Given the description of an element on the screen output the (x, y) to click on. 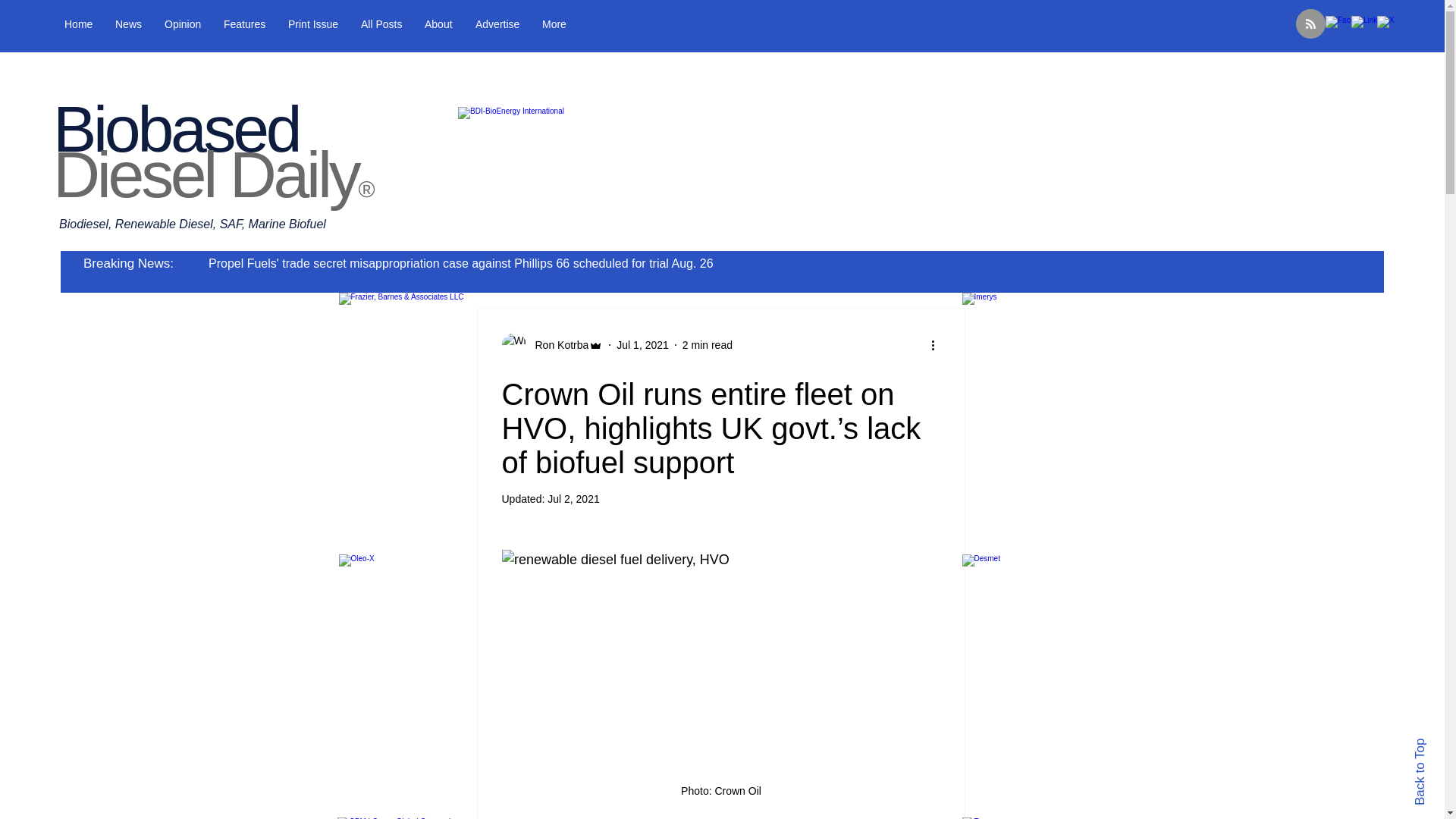
Jul 1, 2021 (641, 344)
News (127, 24)
Diesel Daily (205, 174)
Ron Kotrba (557, 344)
Features (244, 24)
BDI-BioEnergy International (718, 172)
Jul 2, 2021 (573, 499)
Advertise (497, 24)
Print Issue (312, 24)
About (438, 24)
Home (77, 24)
Opinion (182, 24)
2 min read (707, 344)
All Posts (381, 24)
Biobased (175, 128)
